Given the description of an element on the screen output the (x, y) to click on. 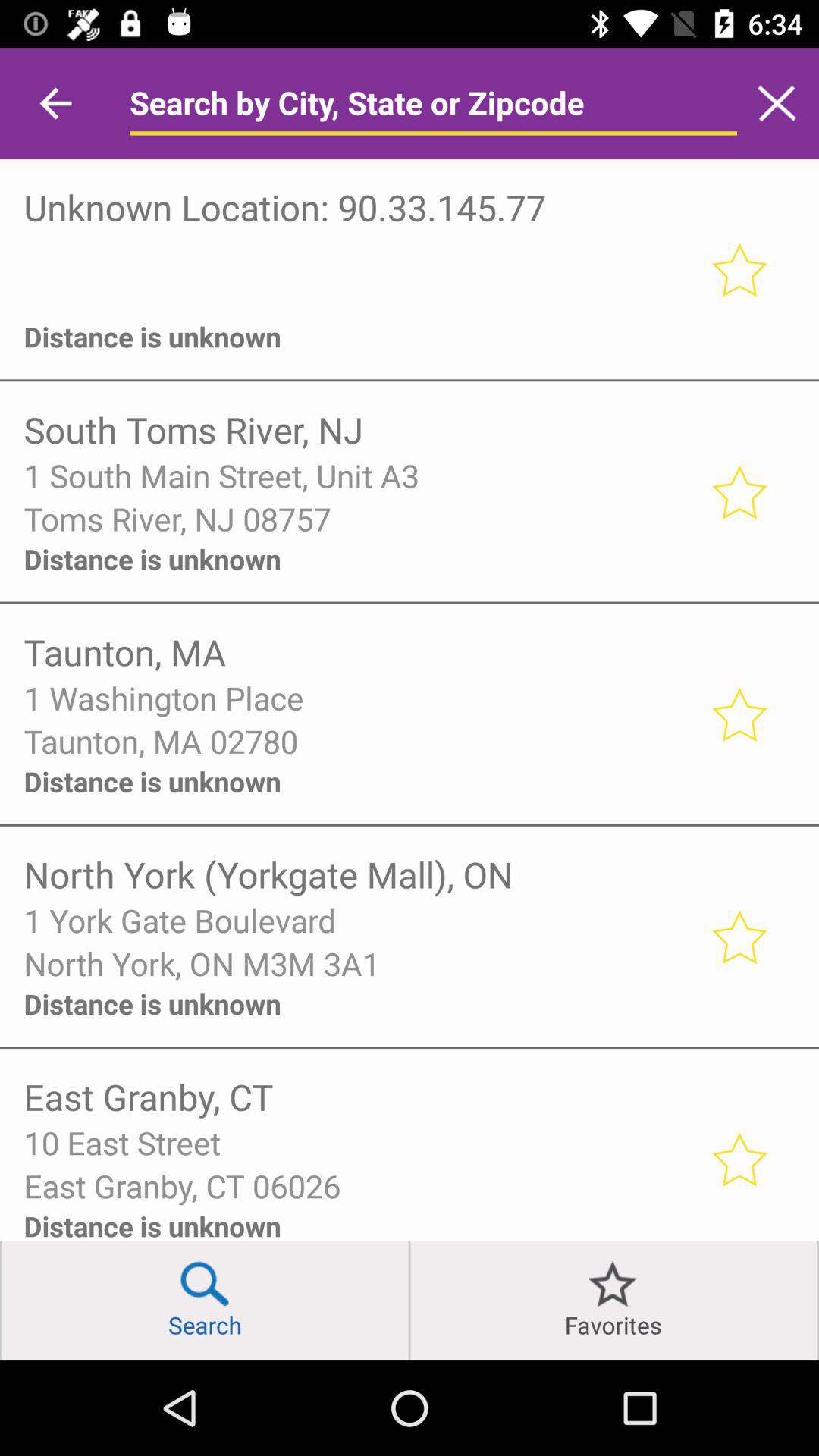
favorite the address (738, 1158)
